Given the description of an element on the screen output the (x, y) to click on. 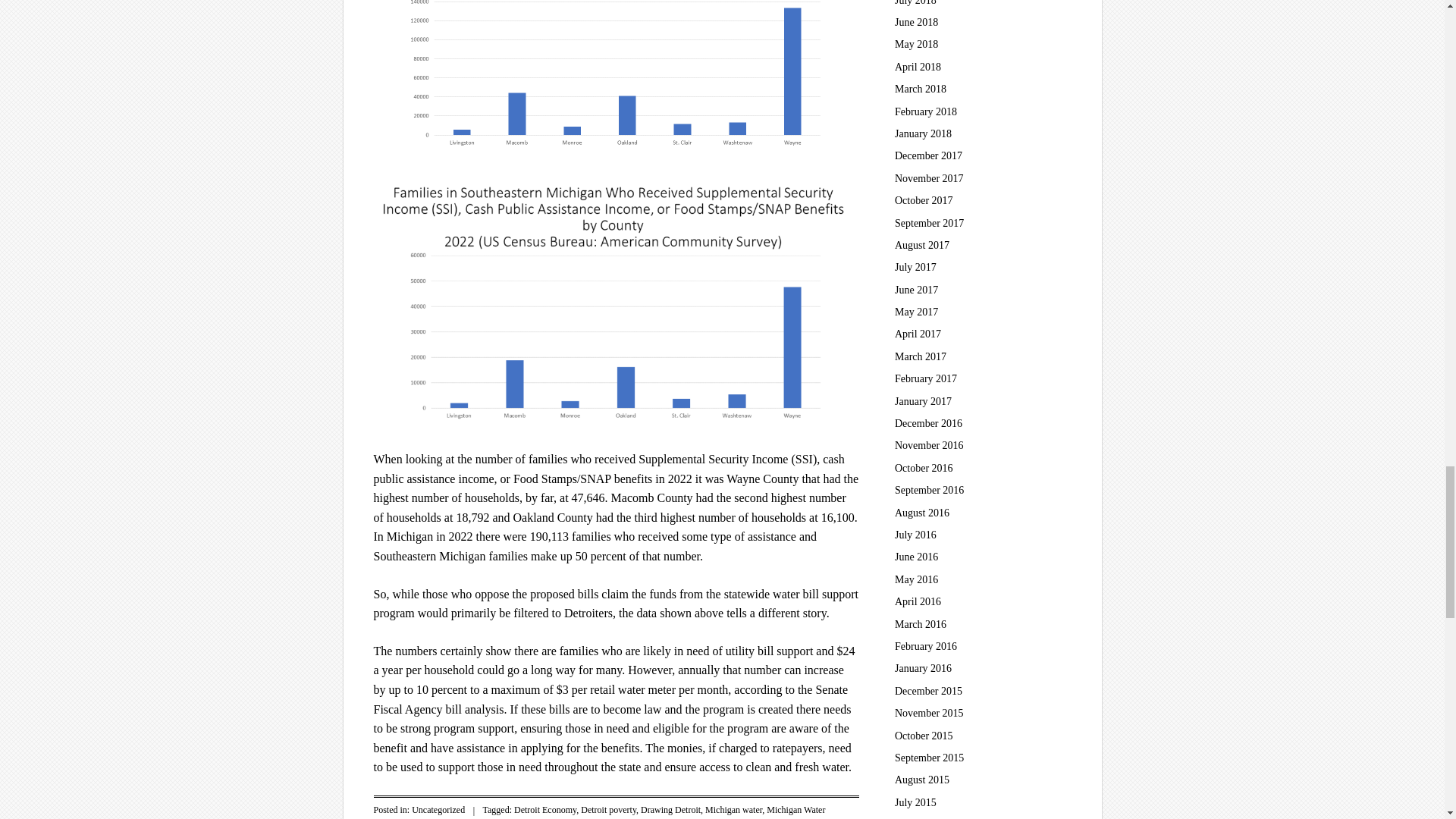
Michigan water (732, 809)
Uncategorized (438, 809)
Detroit Economy (544, 809)
Detroit poverty (608, 809)
Michigan Water Affordability (598, 811)
Drawing Detroit (670, 809)
